Given the description of an element on the screen output the (x, y) to click on. 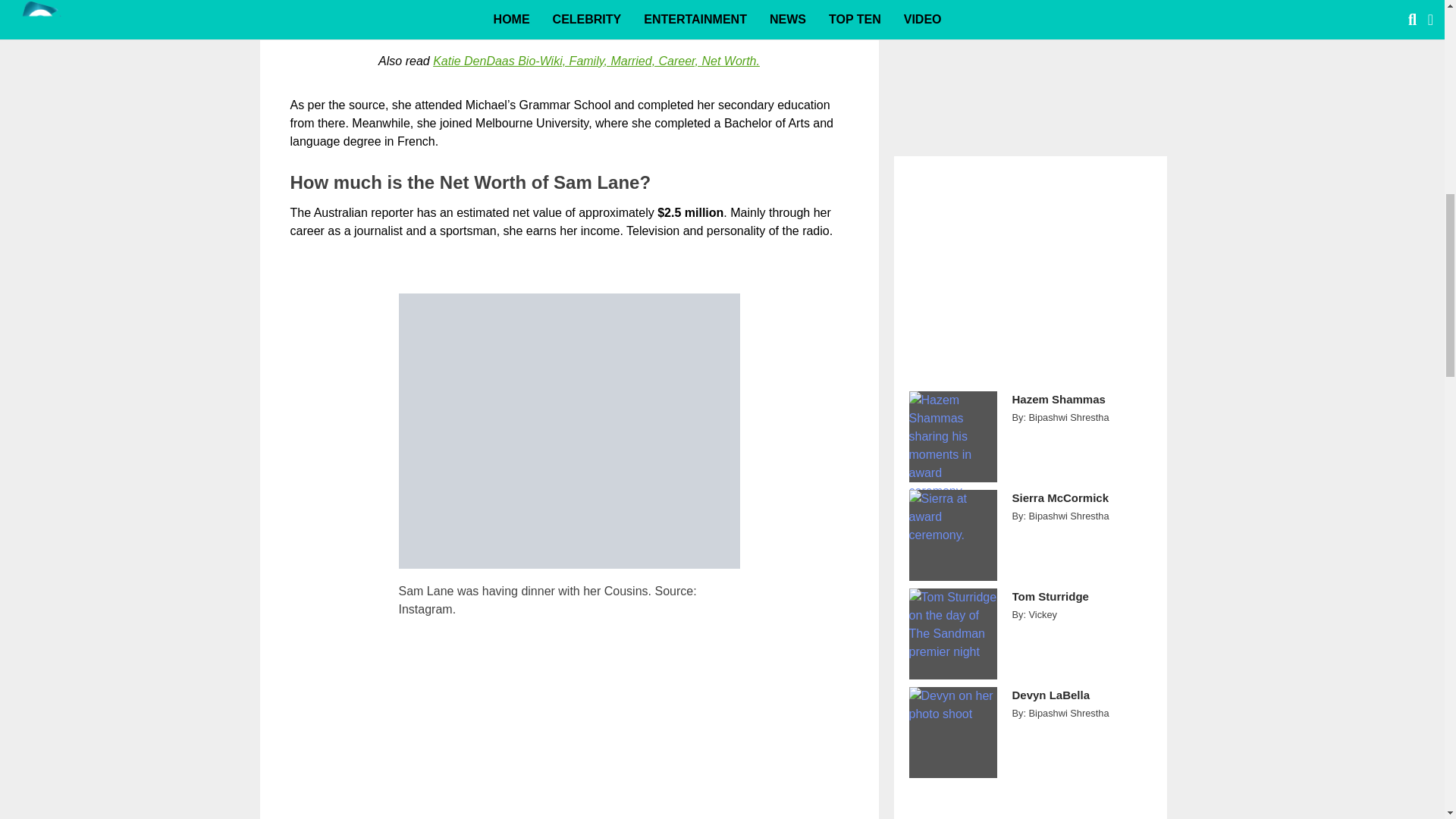
Katie DenDaas Bio-Wiki, Family, Married, Career, Net Worth. (596, 60)
